Given the description of an element on the screen output the (x, y) to click on. 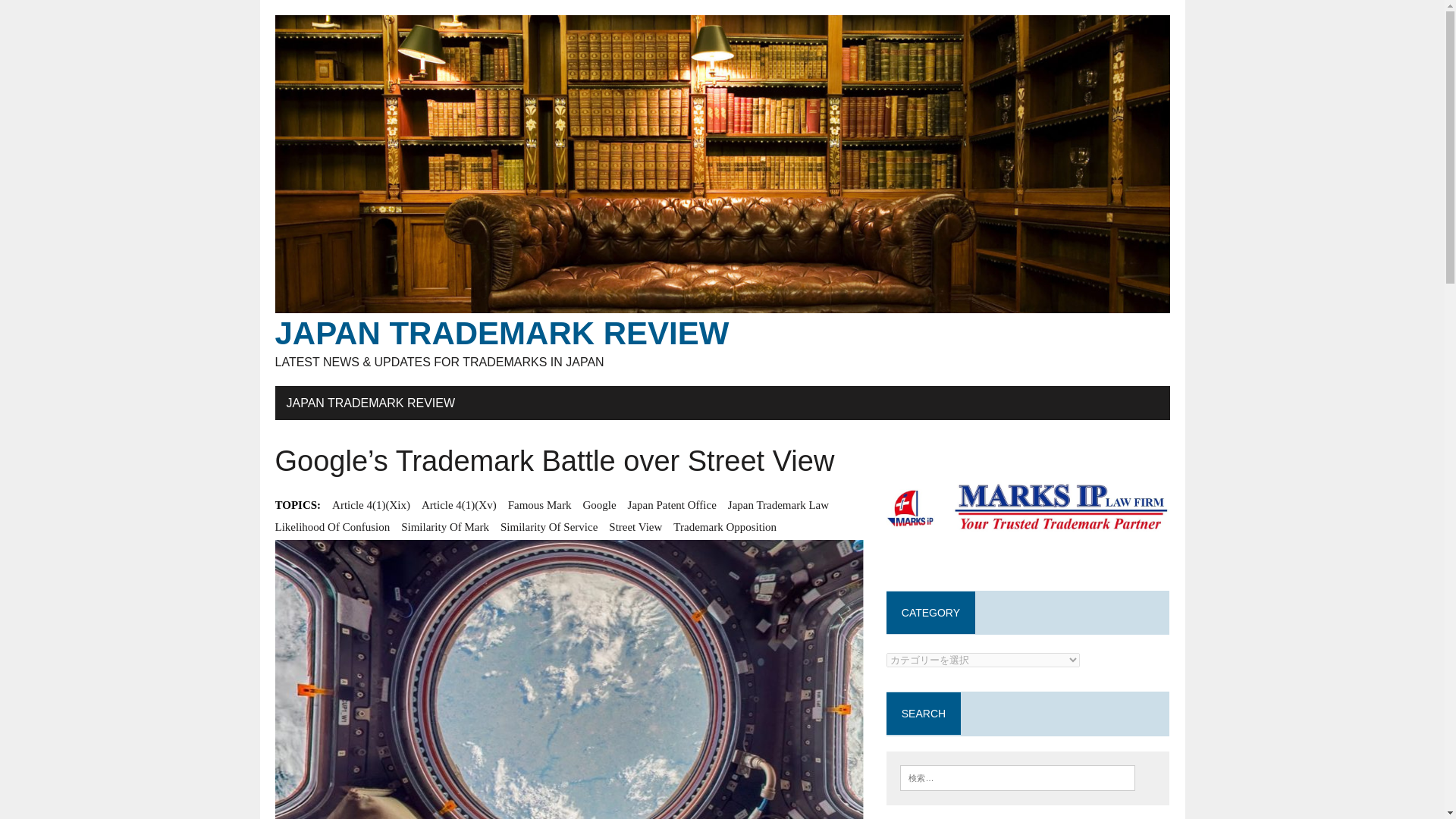
JAPAN TRADEMARK REVIEW (370, 402)
Japan Patent Office (671, 505)
Google (598, 505)
Trademark Opposition (724, 526)
Likelihood Of Confusion (332, 526)
Japan Trademark Law (778, 505)
Street View (635, 526)
Similarity Of Service (548, 526)
Famous Mark (540, 505)
